Given the description of an element on the screen output the (x, y) to click on. 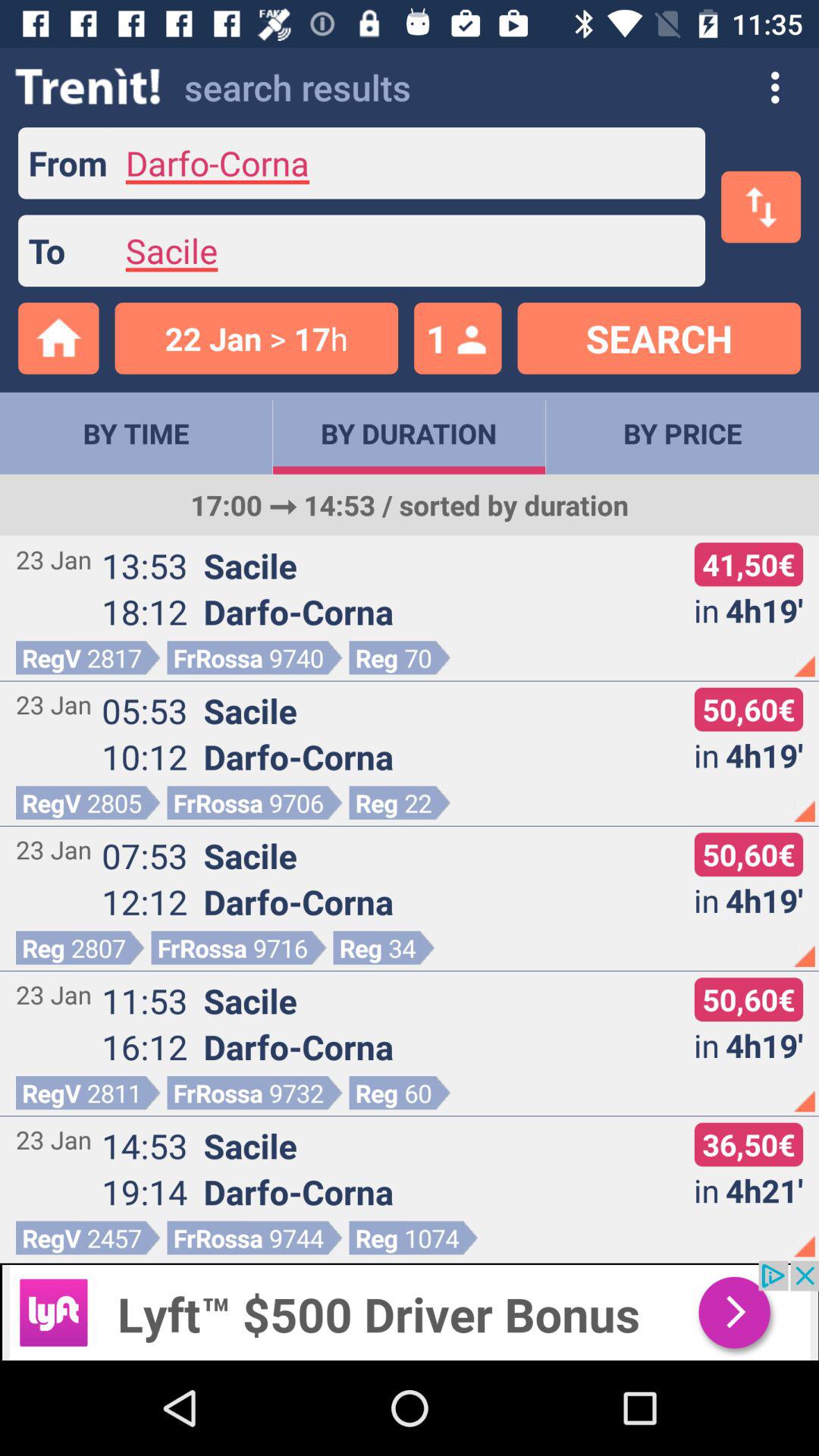
connect to advertisement (409, 1310)
